Given the description of an element on the screen output the (x, y) to click on. 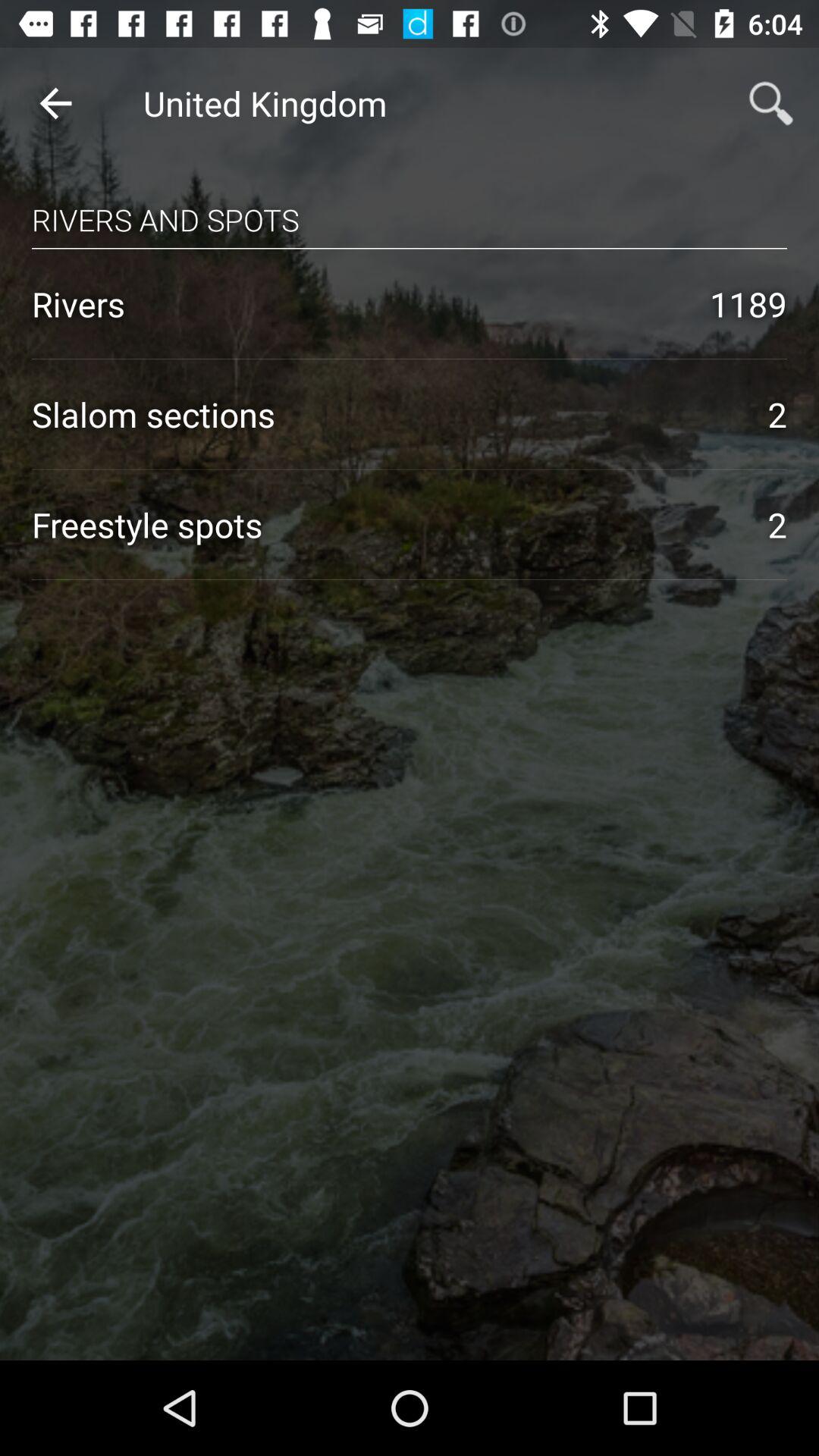
select the item next to united kingdom icon (55, 103)
